Given the description of an element on the screen output the (x, y) to click on. 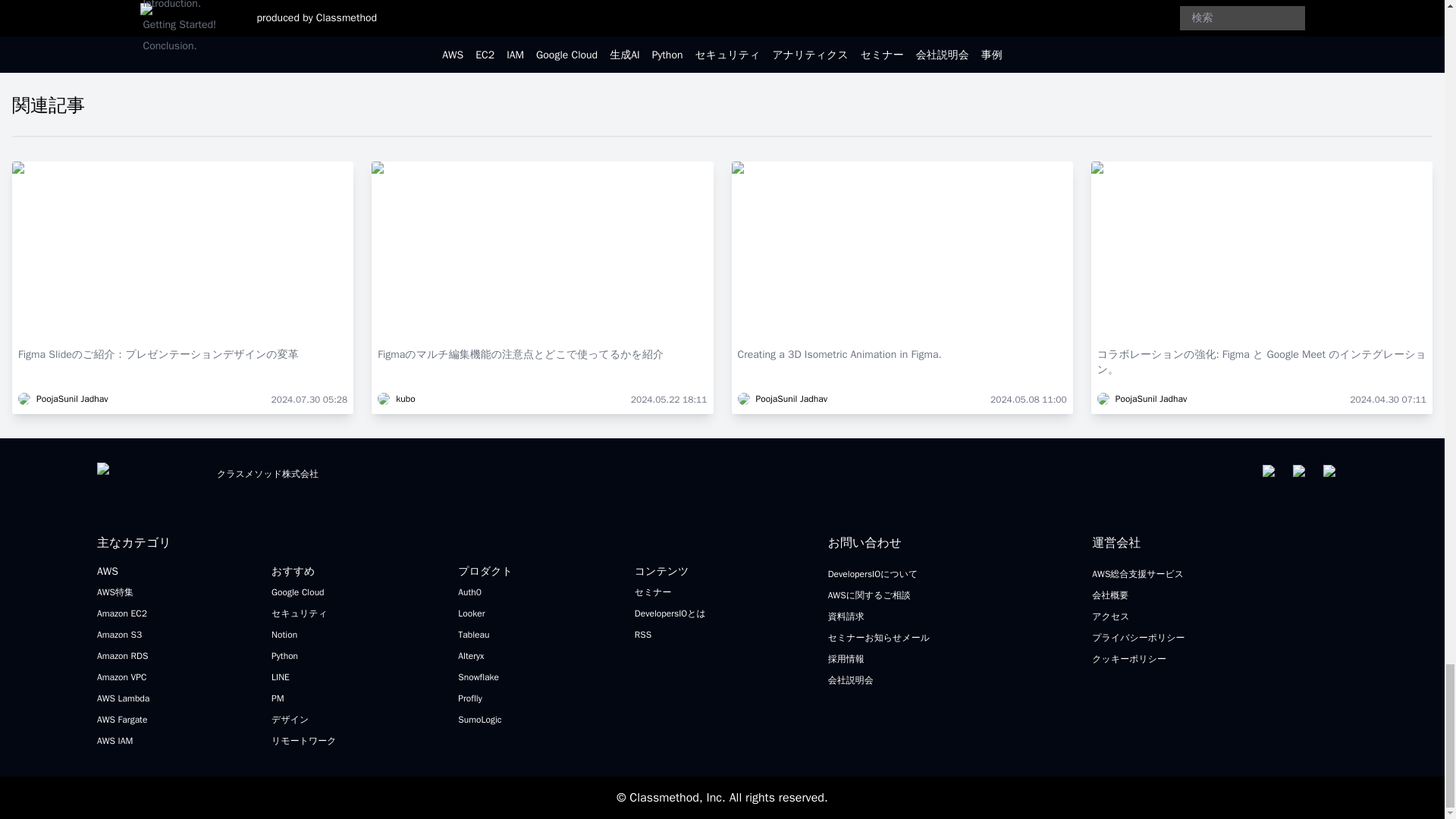
PoojaSunil Jadhav (62, 398)
